Given the description of an element on the screen output the (x, y) to click on. 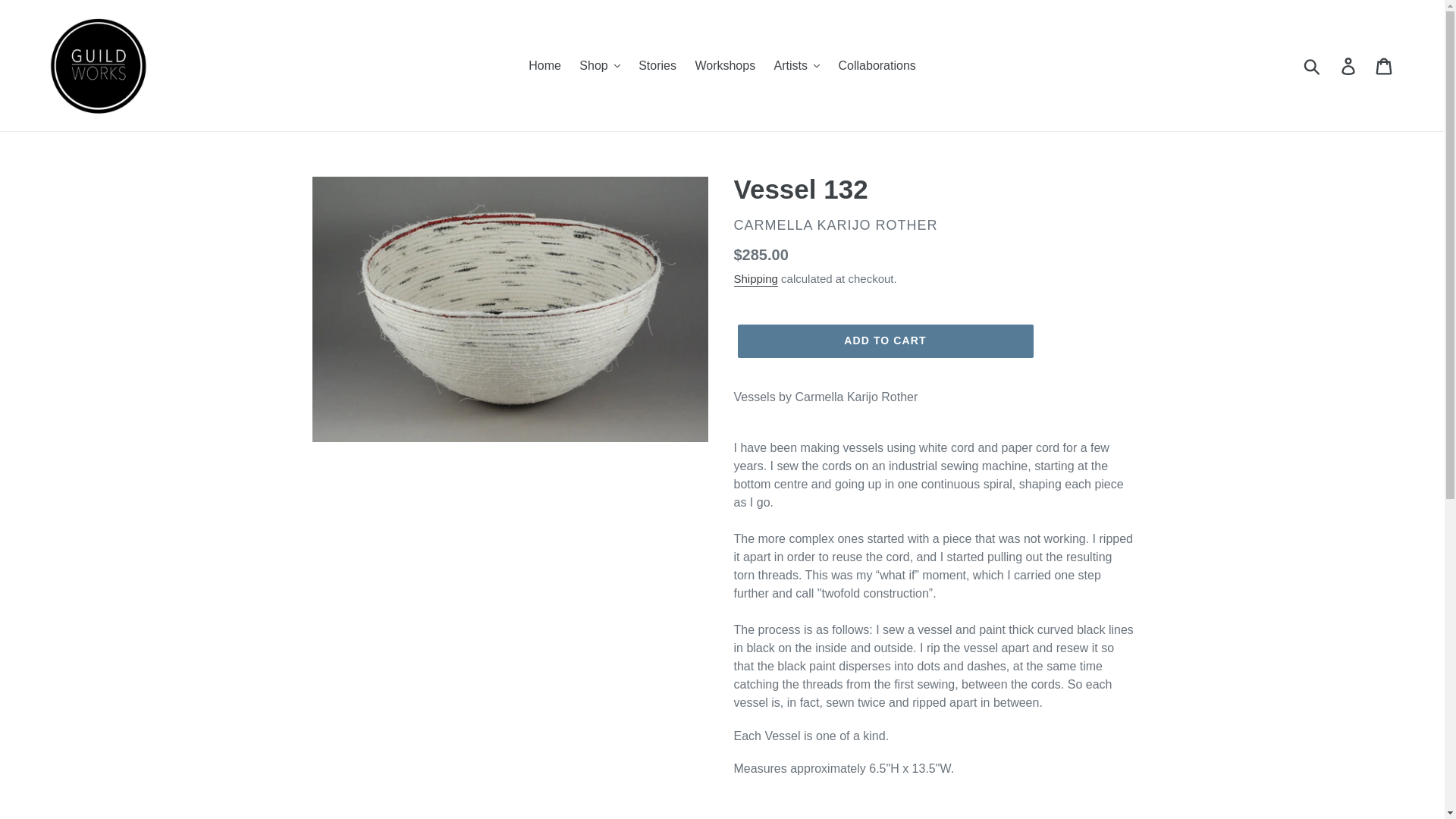
Stories (657, 65)
Workshops (724, 65)
Home (545, 65)
